Given the description of an element on the screen output the (x, y) to click on. 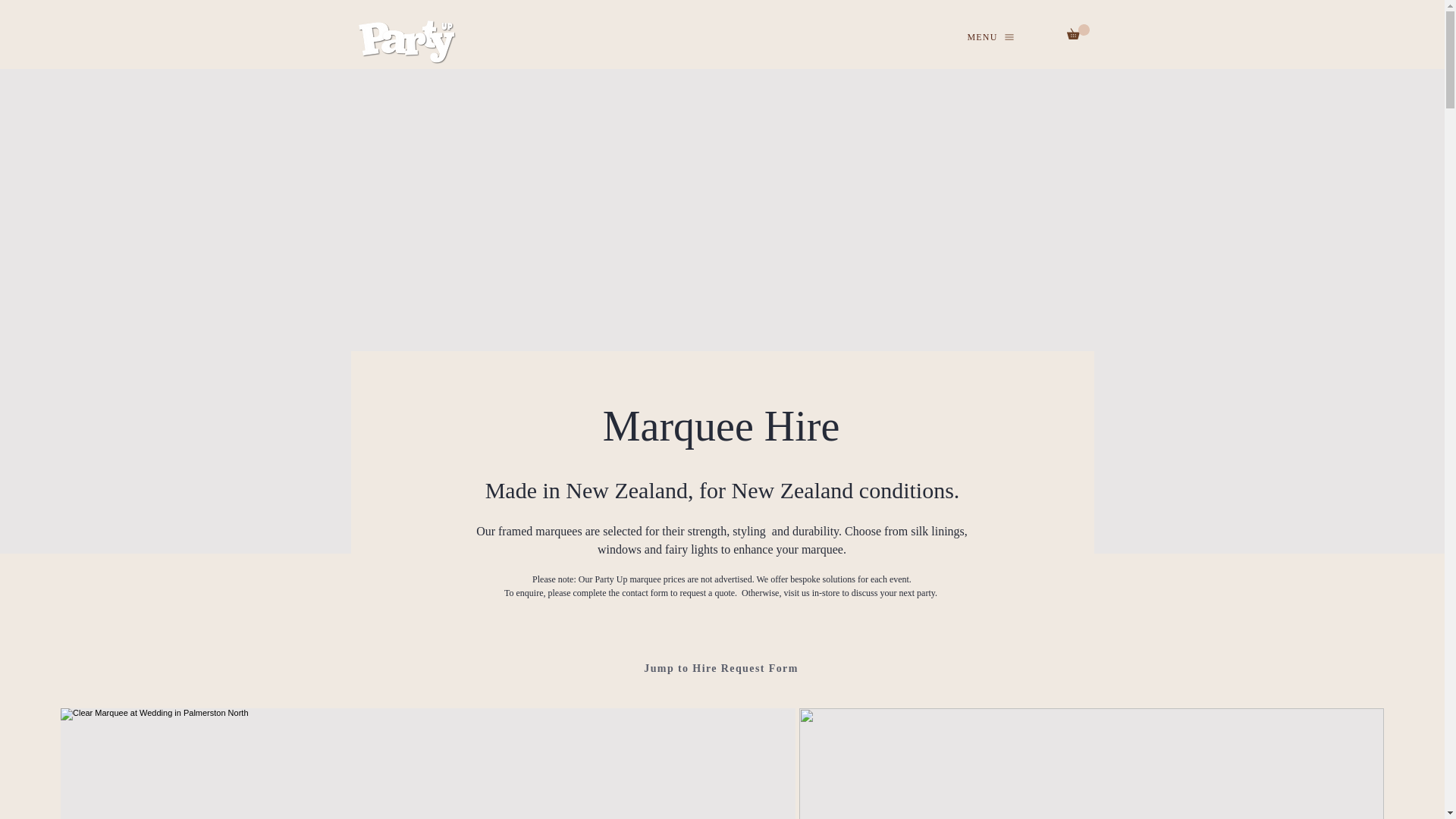
Jump to Hire Request Form (722, 668)
MENU (991, 36)
